Given the description of an element on the screen output the (x, y) to click on. 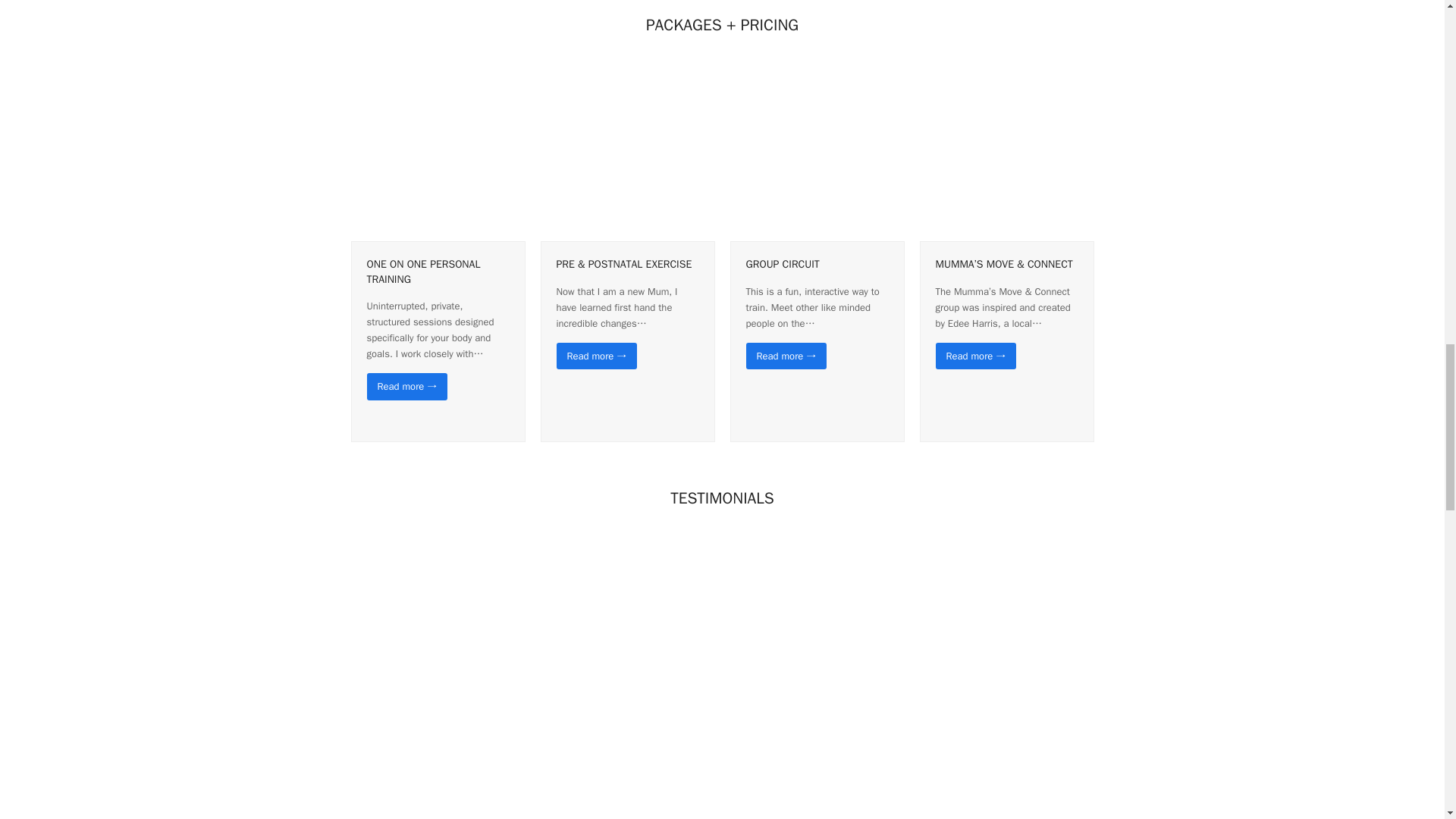
ONE ON ONE PERSONAL TRAINING (423, 271)
ONE ON ONE PERSONAL TRAINING (437, 153)
ONE ON ONE PERSONAL TRAINING (423, 271)
GROUP CIRCUIT (816, 153)
GROUP CIRCUIT (782, 264)
GROUP CIRCUIT (782, 264)
